Given the description of an element on the screen output the (x, y) to click on. 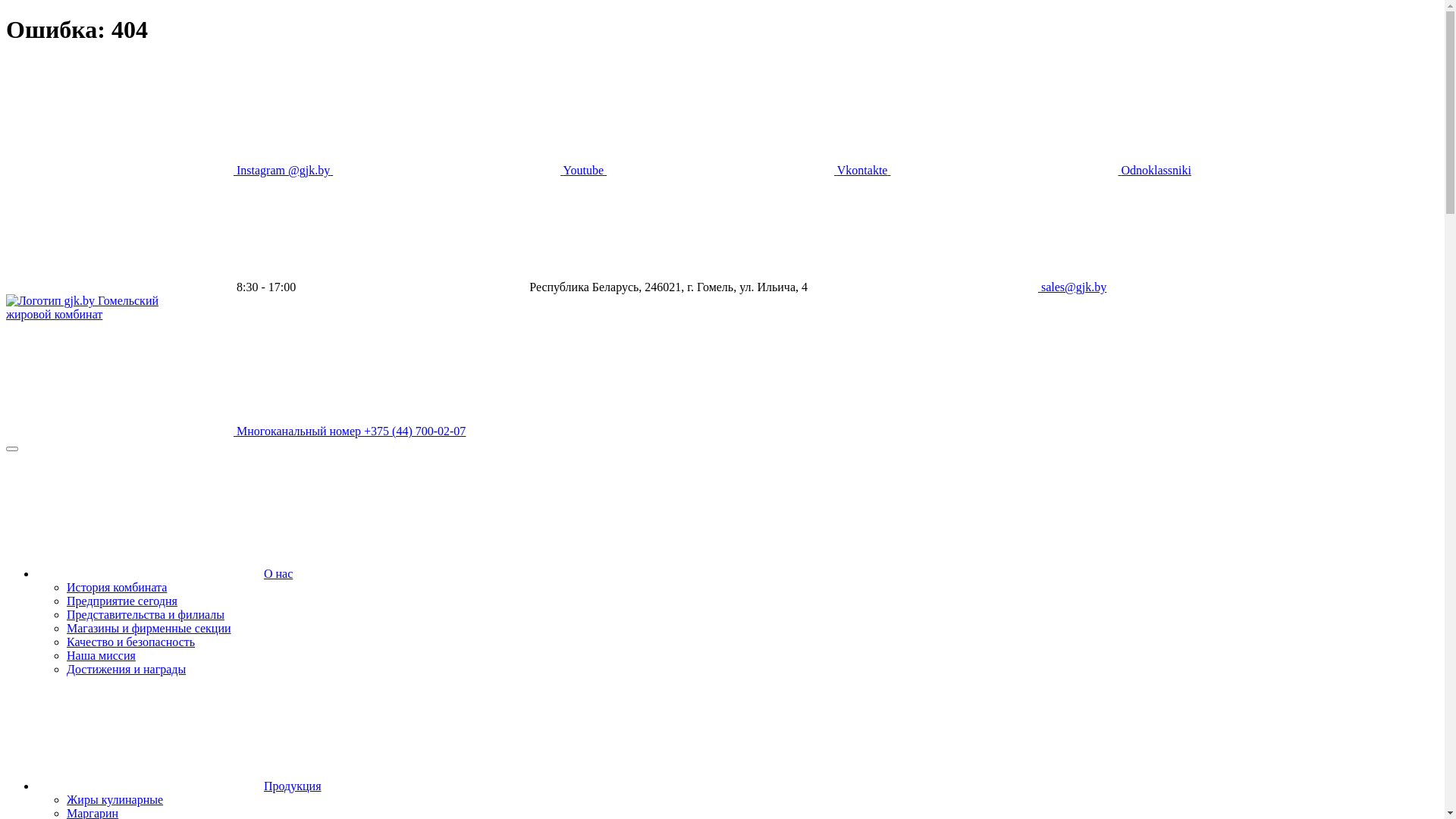
Instagram @gjk.by Element type: text (169, 169)
sales@gjk.by Element type: text (958, 286)
Odnoklassniki Element type: text (1040, 169)
Youtube Element type: text (469, 169)
Vkontakte Element type: text (748, 169)
